Given the description of an element on the screen output the (x, y) to click on. 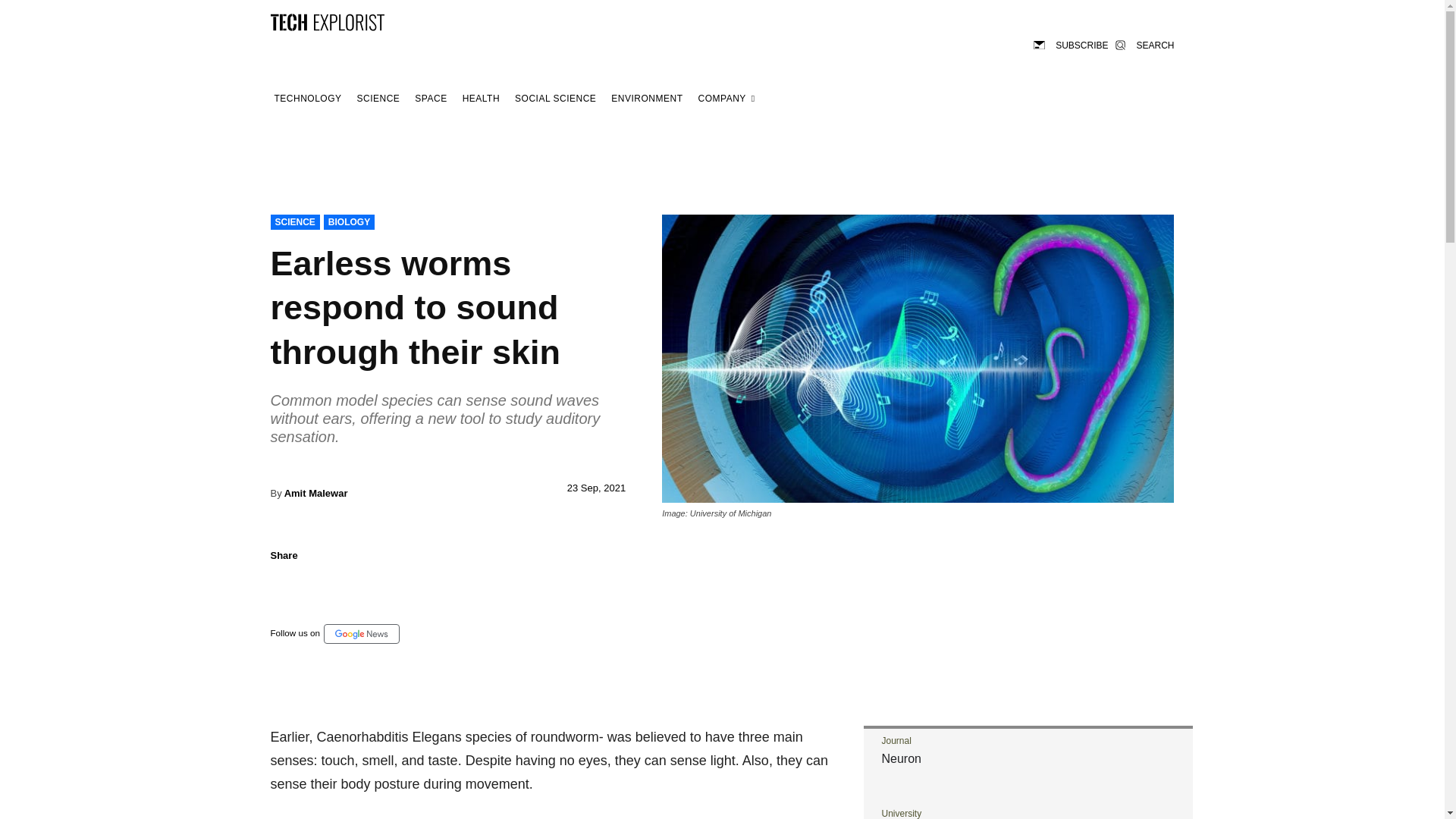
SEARCH (1144, 44)
SUBSCRIBE (1070, 44)
SCIENCE (378, 98)
SEARCH (1144, 44)
SCIENCE (293, 222)
Technology (307, 98)
TECHNOLOGY (307, 98)
SOCIAL SCIENCE (555, 98)
HEALTH (480, 98)
